Given the description of an element on the screen output the (x, y) to click on. 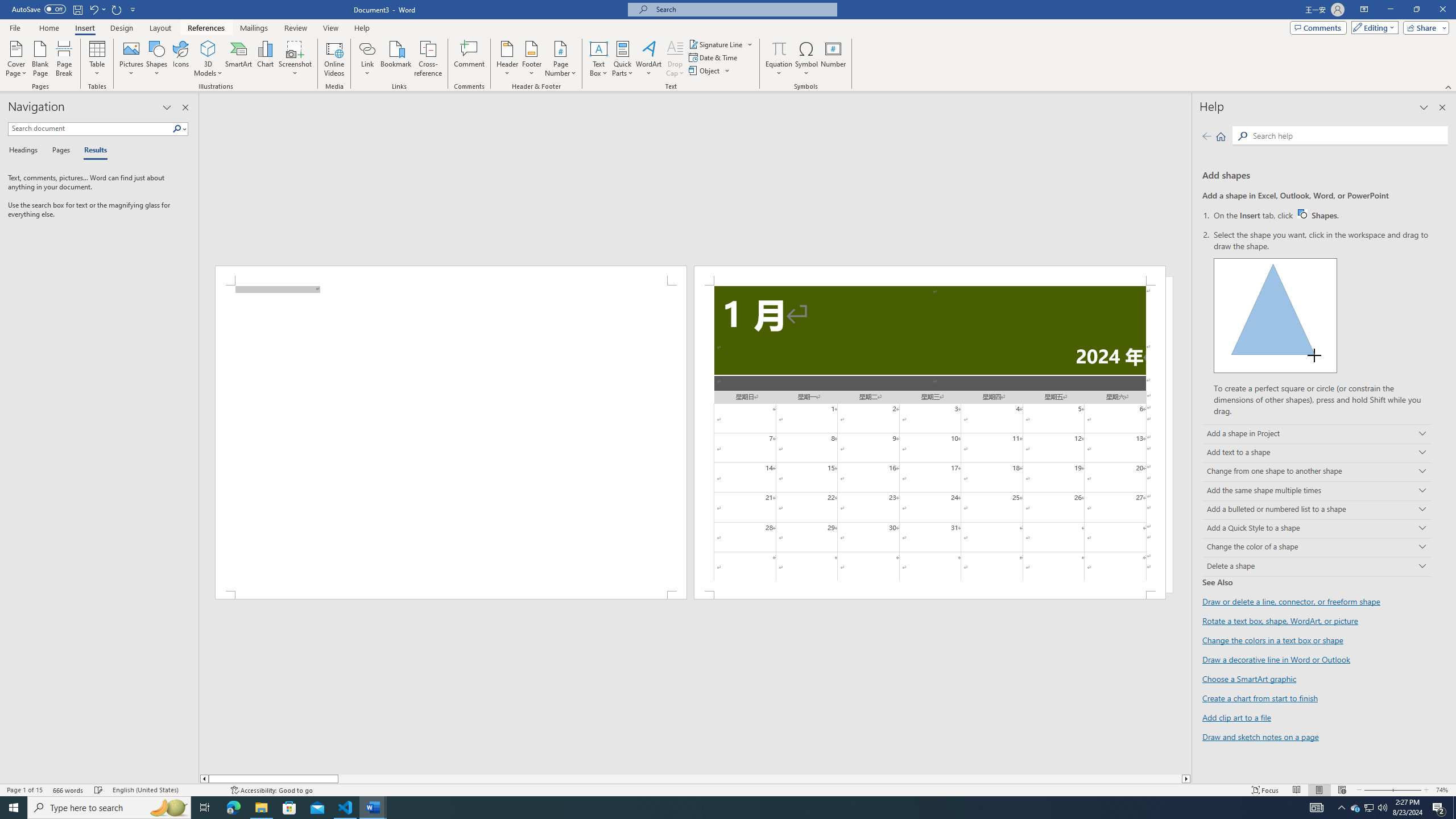
Choose a SmartArt graphic (1248, 678)
Word W32 Shapes button icon (1302, 213)
Delete a shape (1316, 566)
Add the same shape multiple times (1316, 490)
Number... (833, 58)
Page 1 content (451, 438)
